Given the description of an element on the screen output the (x, y) to click on. 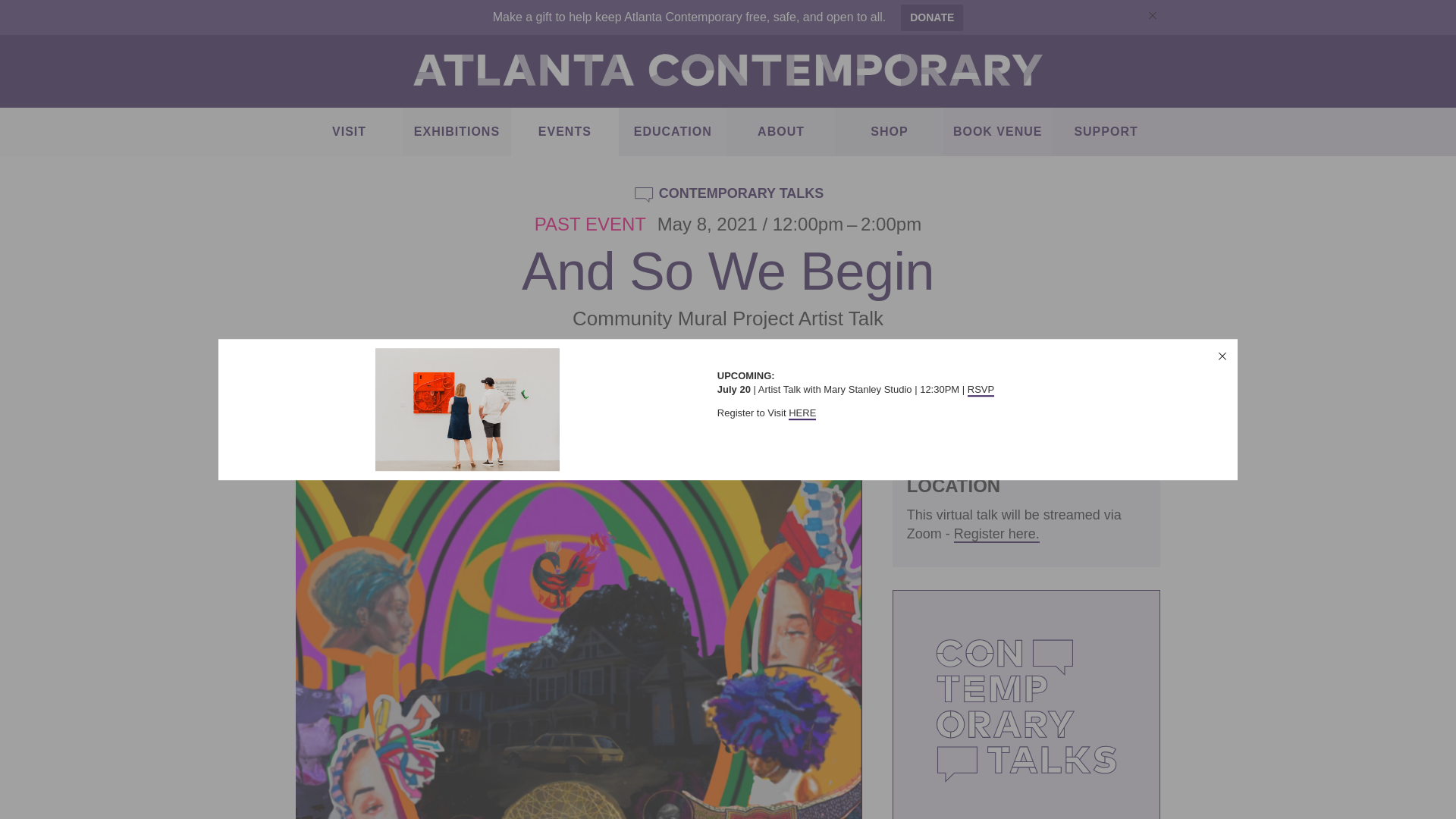
Register here. (996, 534)
VISIT (349, 131)
ABOUT (780, 131)
EVENTS (564, 131)
SUPPORT (1105, 131)
SHARE (941, 442)
DONATE (931, 17)
EXHIBITIONS (457, 131)
EDUCATION (672, 131)
SHOP (888, 131)
BOOK VENUE (997, 131)
